Given the description of an element on the screen output the (x, y) to click on. 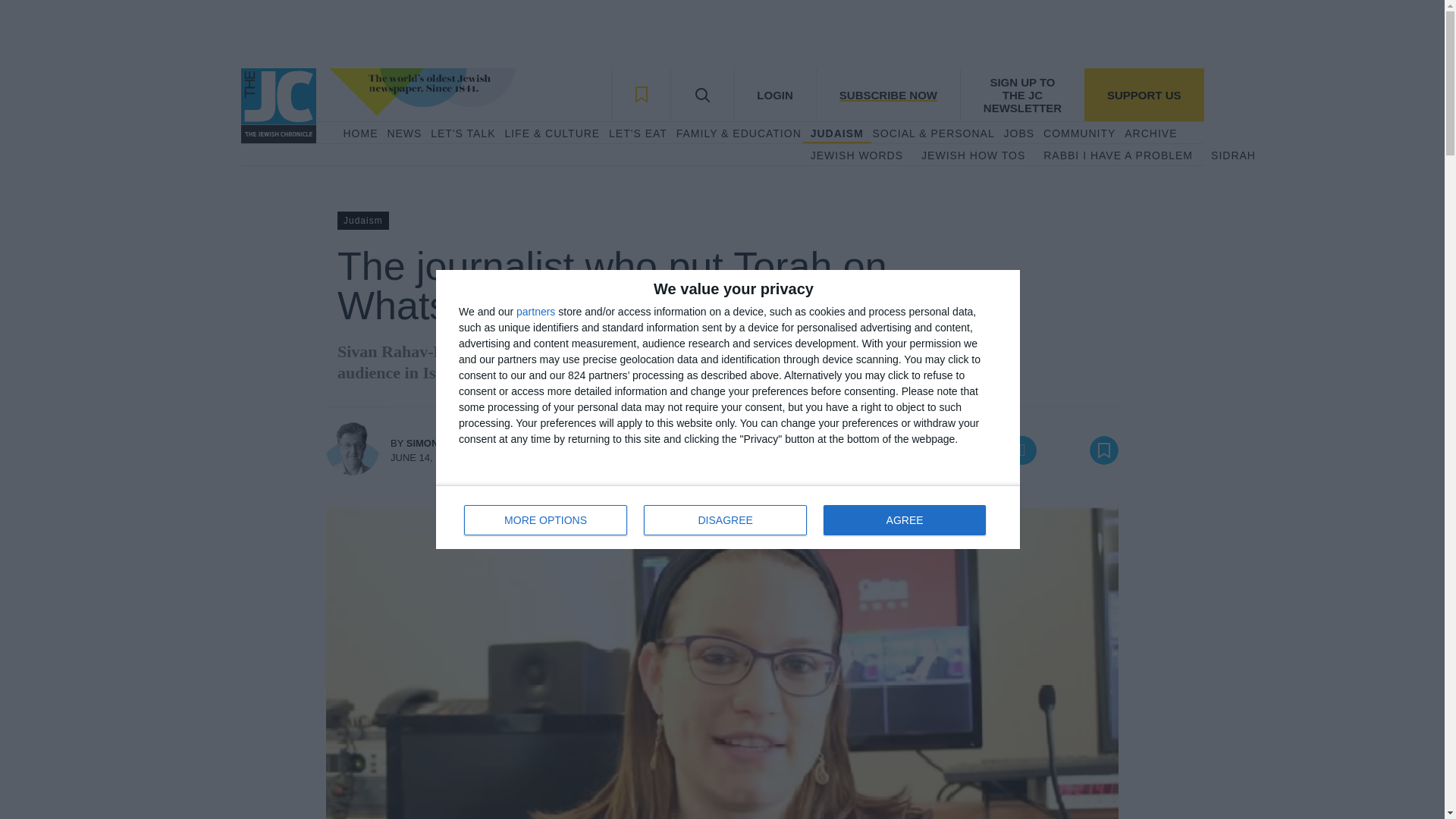
AGREE (904, 520)
JEWISH HOW TOS (973, 155)
SUBSCRIBE NOW (887, 94)
SIDRAH (1233, 155)
LOGIN (774, 94)
RABBI I HAVE A PROBLEM (727, 516)
MORE OPTIONS (1117, 155)
SIGN UP TO THE JC NEWSLETTER (545, 520)
HOME (1021, 94)
SUPPORT US (359, 133)
DISAGREE (1144, 94)
JUDAISM (724, 520)
LET'S EAT (836, 133)
JEWISH WORDS (637, 133)
